Given the description of an element on the screen output the (x, y) to click on. 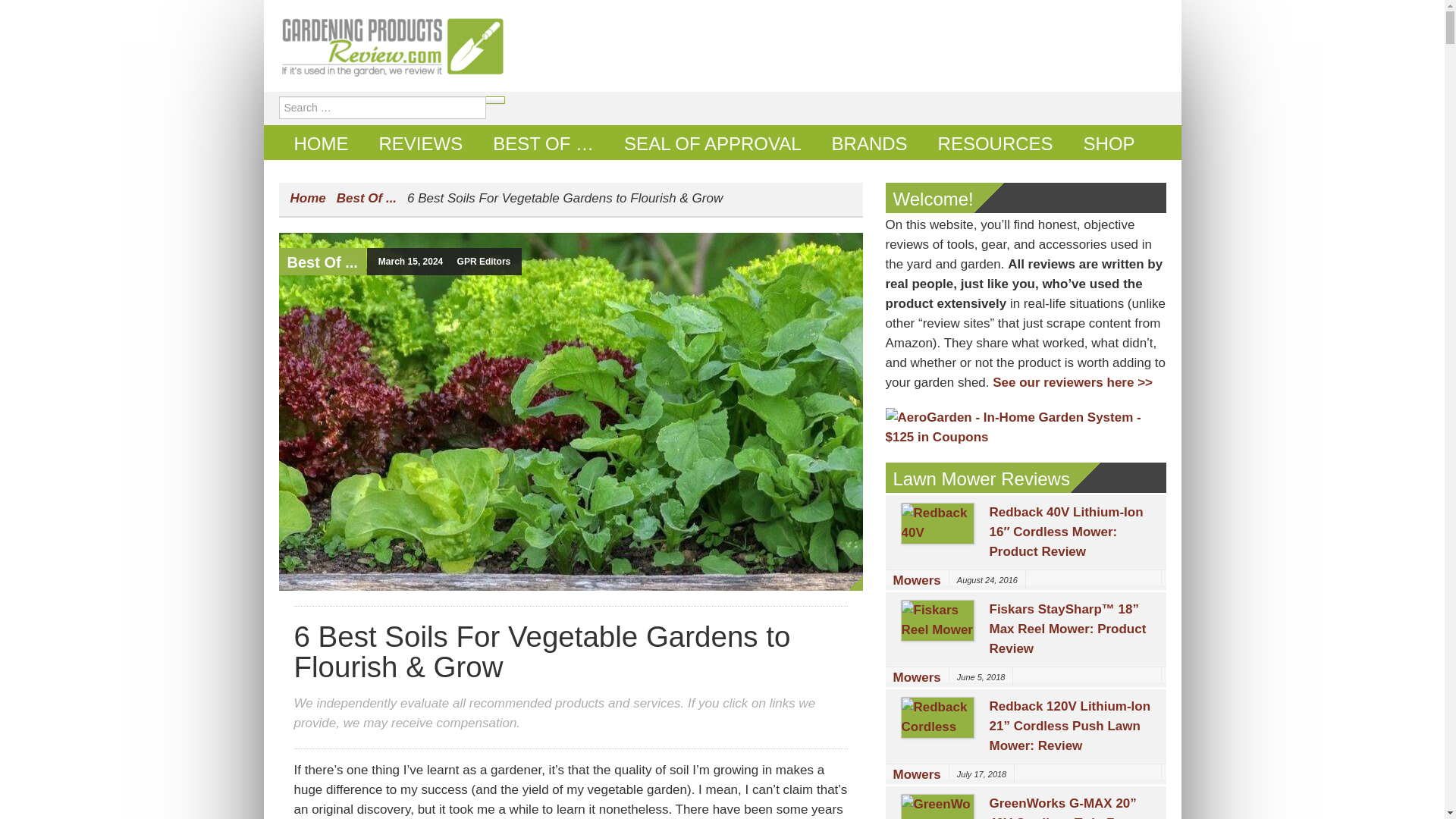
RESOURCES (995, 142)
REVIEWS (421, 142)
Best Of ... (322, 262)
Resources for Gardeners (995, 142)
SHOP (1109, 142)
HOME (321, 142)
Home (306, 197)
SEAL OF APPROVAL (711, 142)
Best Of ... (366, 197)
Search (318, 9)
